Given the description of an element on the screen output the (x, y) to click on. 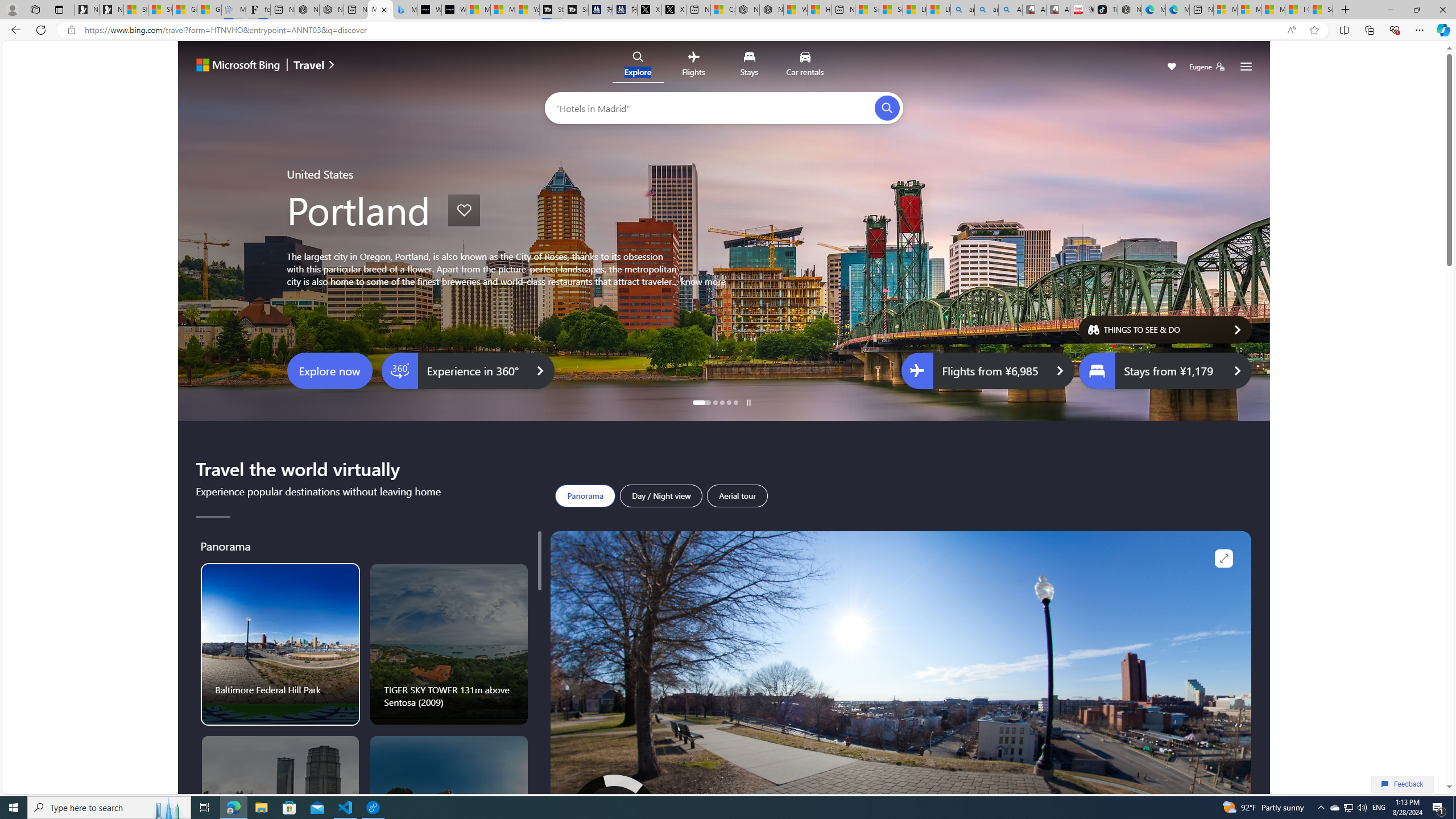
Wildlife - MSN (795, 9)
Class: trvl-hub-header transparent nofilter (723, 65)
Pause (748, 402)
Day / Night view (661, 495)
Personal Profile (12, 9)
Panorama (584, 495)
Go to next slide (1238, 234)
Aerial tour (737, 495)
Nordace - #1 Japanese Best-Seller - Siena Smart Backpack (330, 9)
X (673, 9)
THINGS TO SEE & DO (1165, 329)
Microsoft Bing (232, 65)
All Cubot phones (1057, 9)
Read aloud this page (Ctrl+Shift+U) (1291, 29)
